Given the description of an element on the screen output the (x, y) to click on. 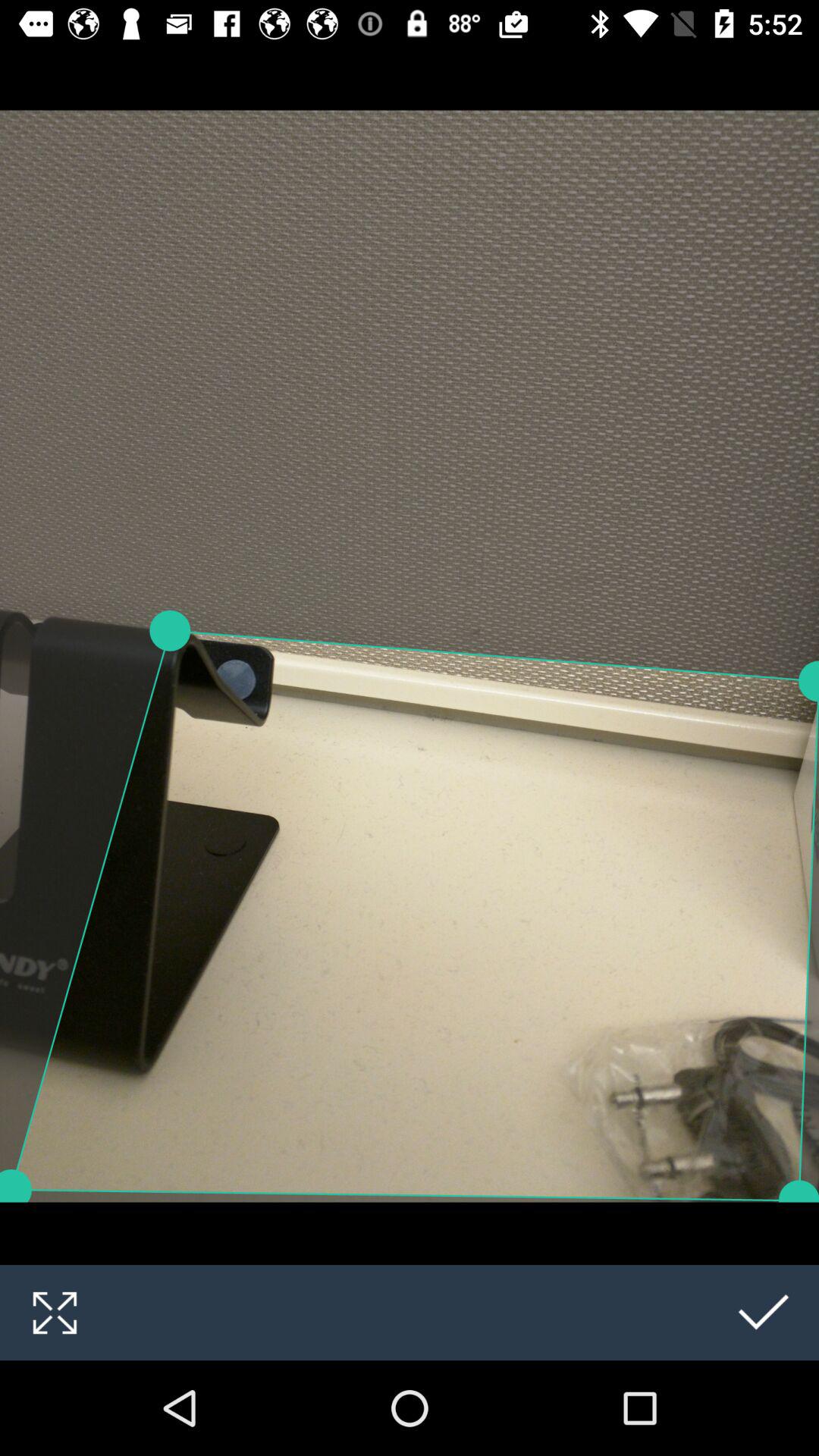
open the icon at the bottom left corner (54, 1312)
